Given the description of an element on the screen output the (x, y) to click on. 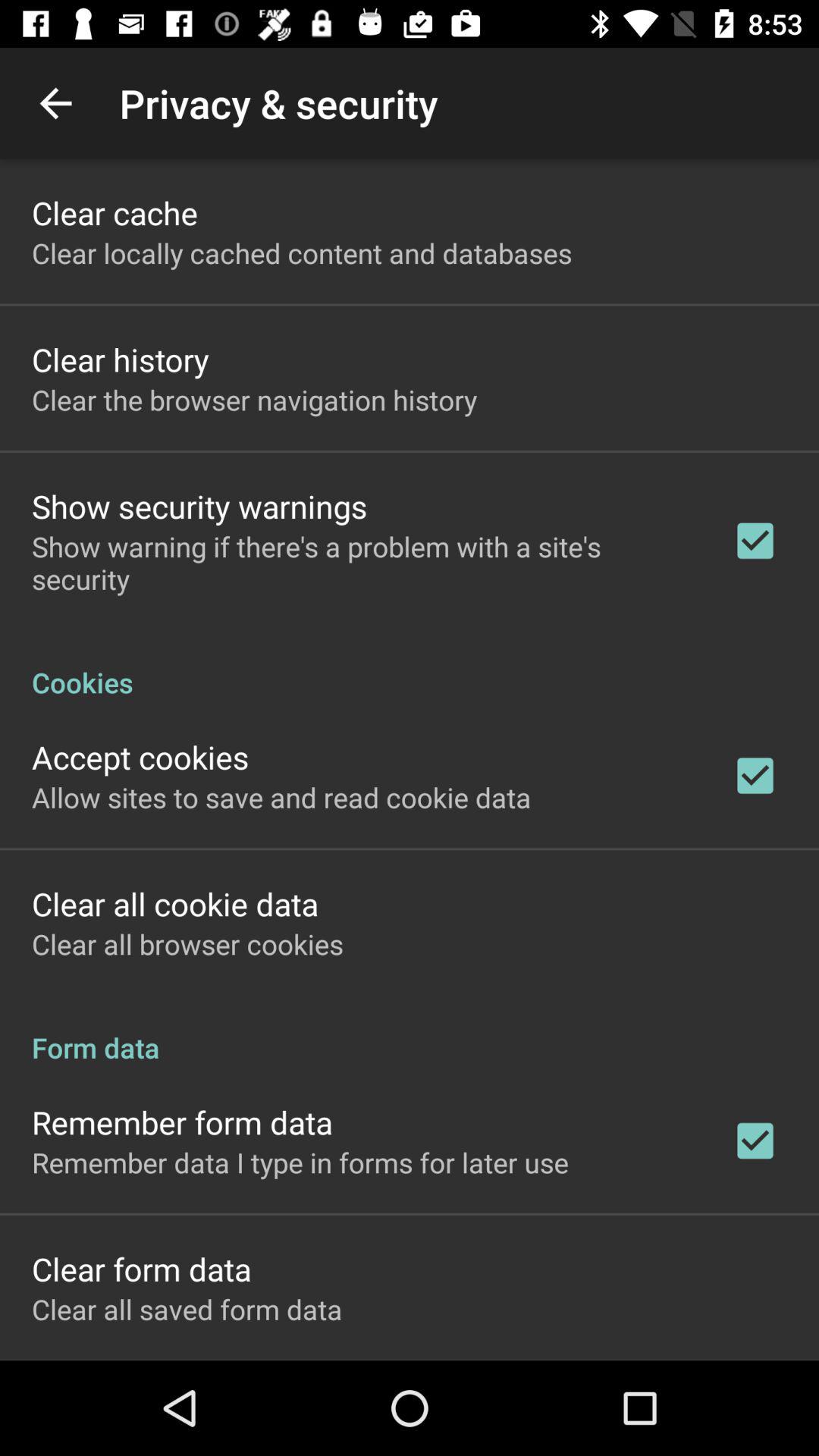
choose the icon next to privacy & security app (55, 103)
